Given the description of an element on the screen output the (x, y) to click on. 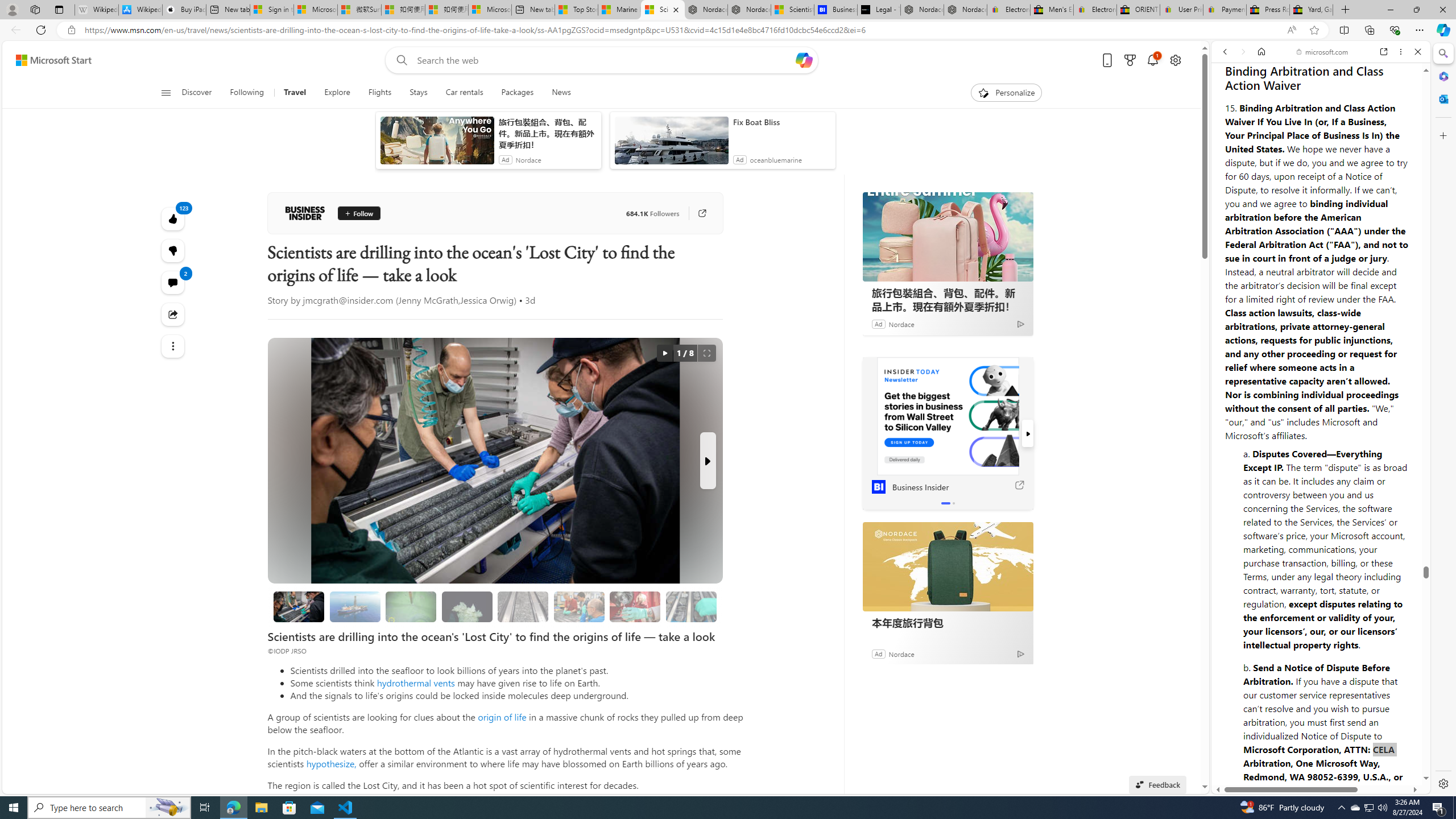
Press Room - eBay Inc. (1267, 9)
Web search (398, 60)
Travel (295, 92)
The Lost City could hold clues to the origin of life. (466, 606)
Forward (1242, 51)
Car rentals (464, 92)
microsoft.com (1323, 51)
next (1027, 433)
origin of life (502, 716)
